Given the description of an element on the screen output the (x, y) to click on. 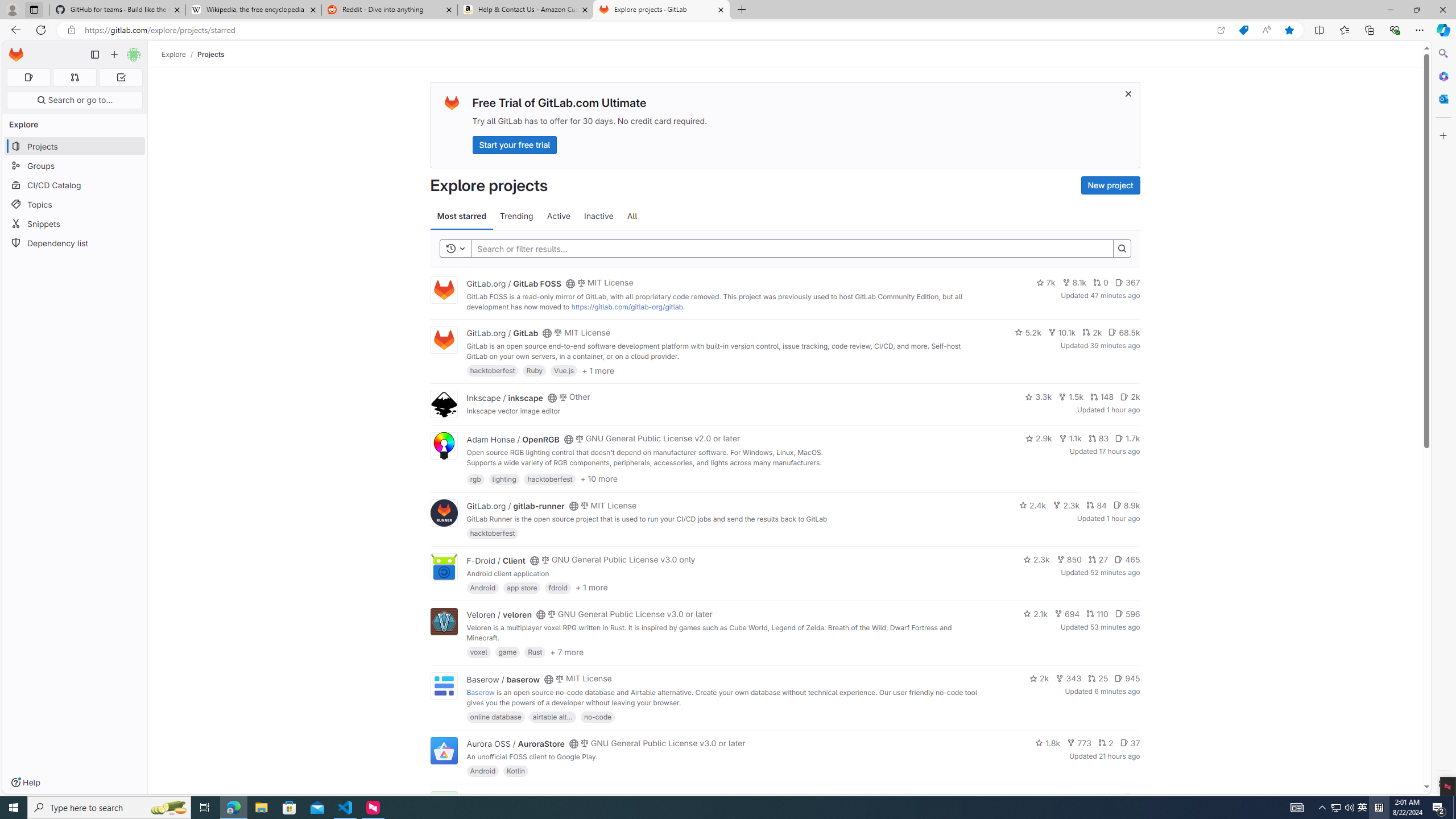
2.9k (1038, 438)
83 (1098, 438)
Adam Honse / OpenRGB (512, 438)
Dismiss trial promotion (1128, 93)
Dependency list (74, 242)
84 (1096, 504)
https://gitlab.com/gitlab-org/gitlab (626, 306)
